Given the description of an element on the screen output the (x, y) to click on. 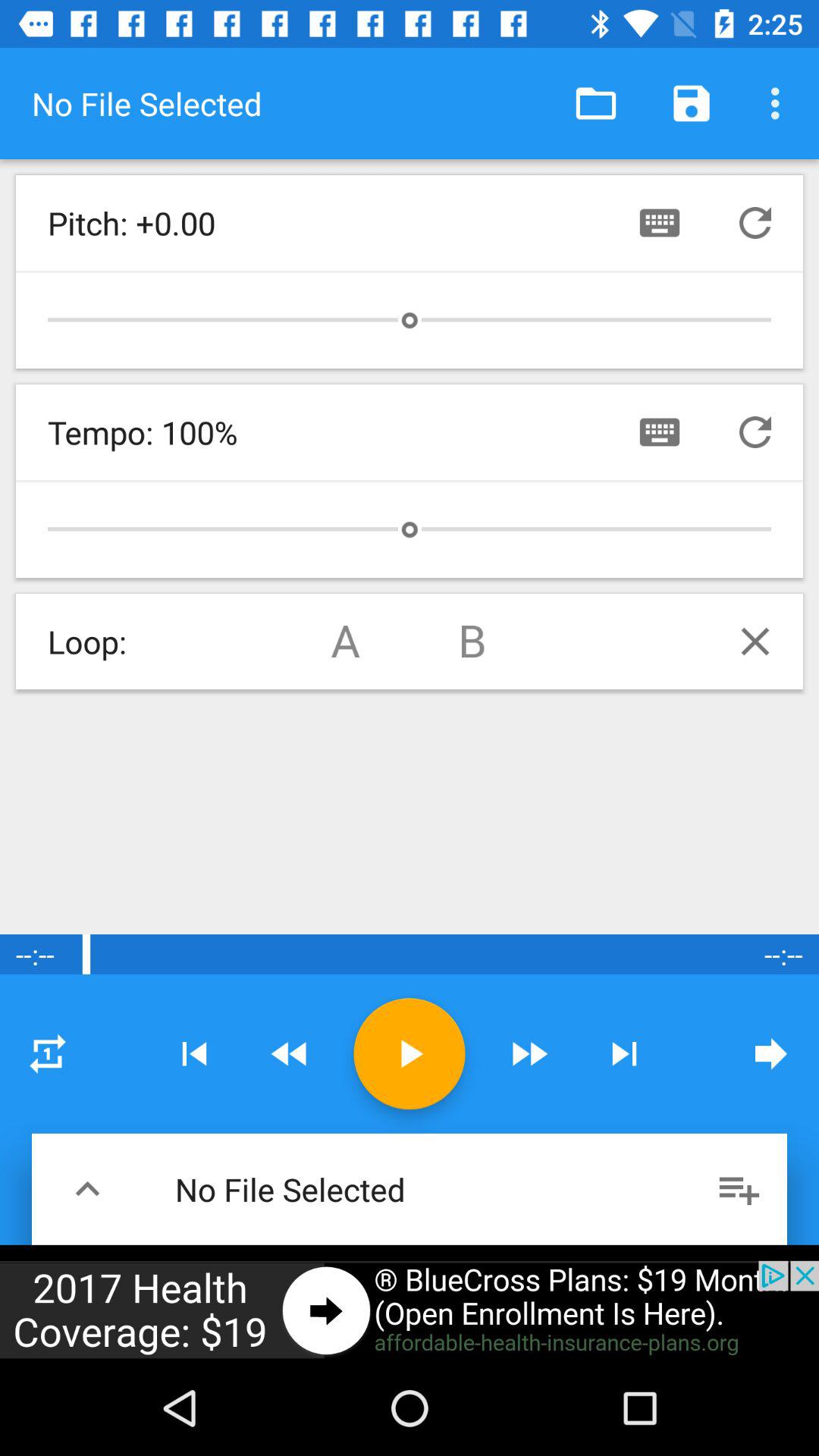
delete loop button (755, 641)
